Given the description of an element on the screen output the (x, y) to click on. 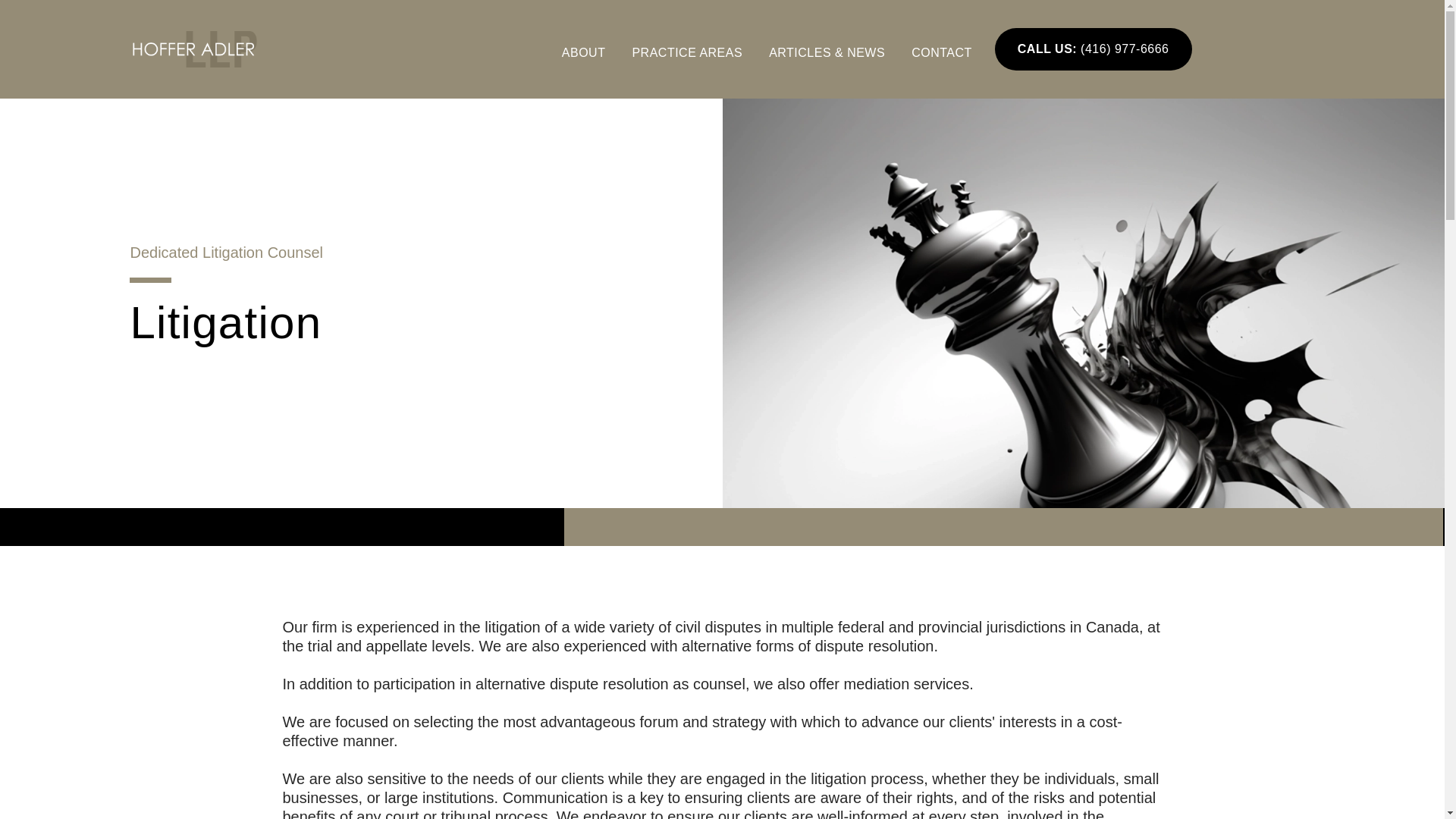
ABOUT (587, 52)
PRACTICE AREAS (690, 52)
CONTACT (941, 52)
